Given the description of an element on the screen output the (x, y) to click on. 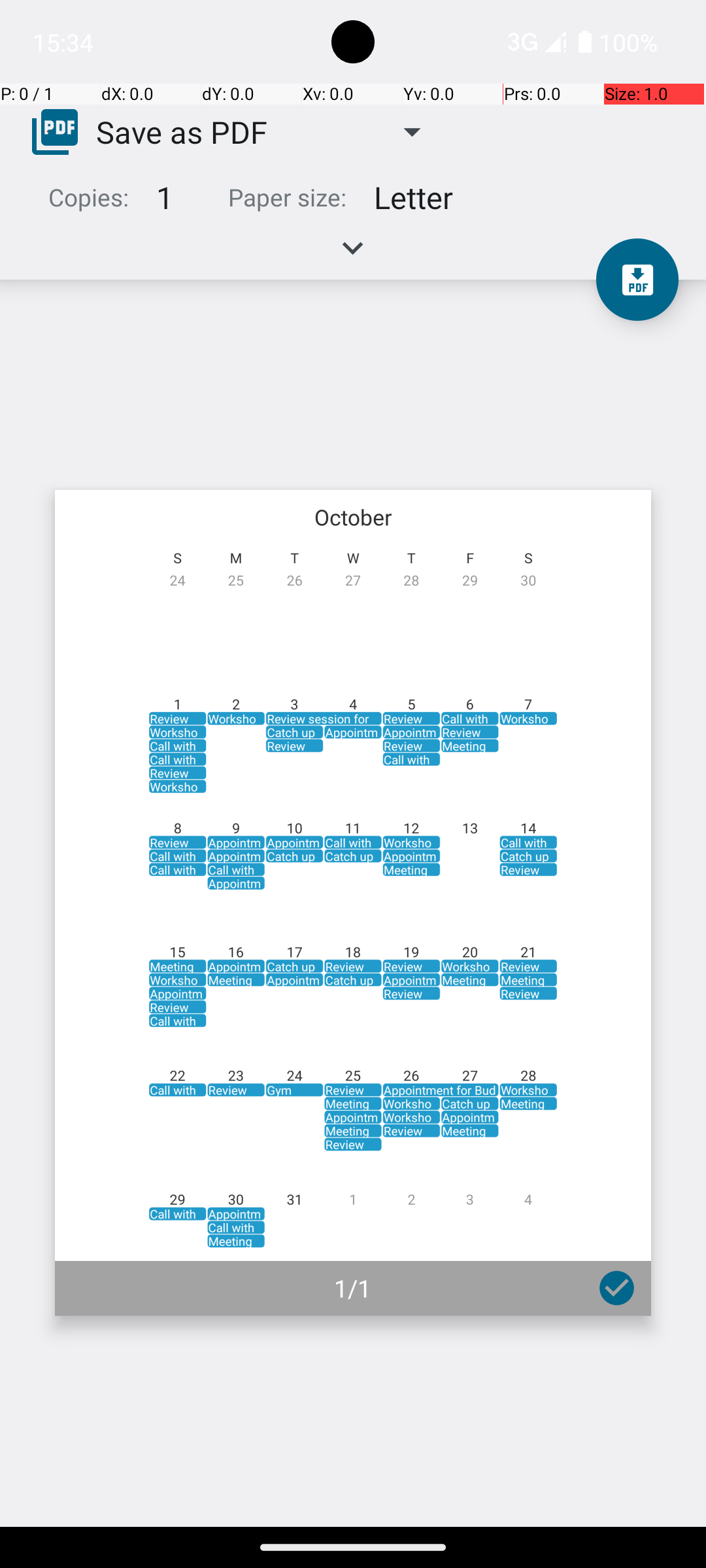
Expand handle Element type: android.widget.FrameLayout (353, 255)
Summary, copies 1, paper size Letter Element type: android.widget.LinearLayout (353, 202)
Save to PDF Element type: android.widget.ImageButton (637, 279)
Save as PDF Element type: android.widget.TextView (182, 131)
Copies: Element type: android.widget.TextView (88, 196)
Paper size: Element type: android.widget.TextView (287, 196)
Letter Element type: android.widget.TextView (413, 196)
Page 1 of 1 Element type: android.widget.CompoundButton (352, 902)
1/1 Element type: android.widget.TextView (352, 1287)
